Given the description of an element on the screen output the (x, y) to click on. 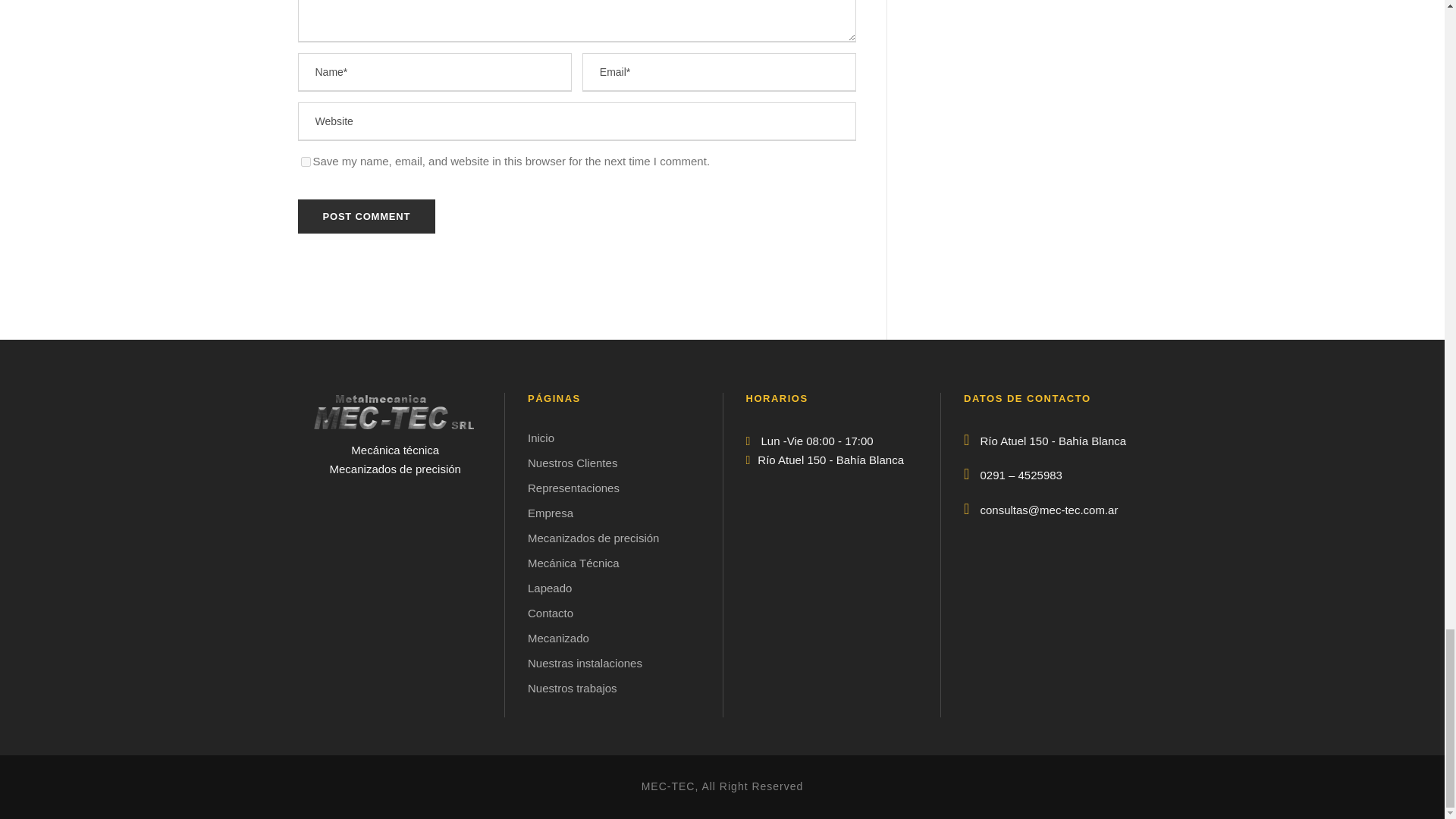
yes (304, 162)
Post Comment (366, 216)
